Given the description of an element on the screen output the (x, y) to click on. 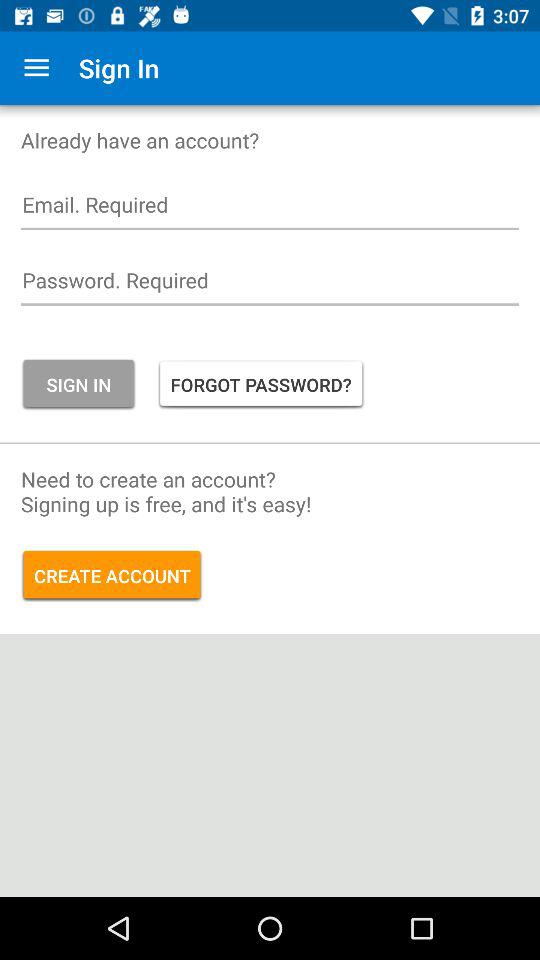
email login (270, 209)
